Given the description of an element on the screen output the (x, y) to click on. 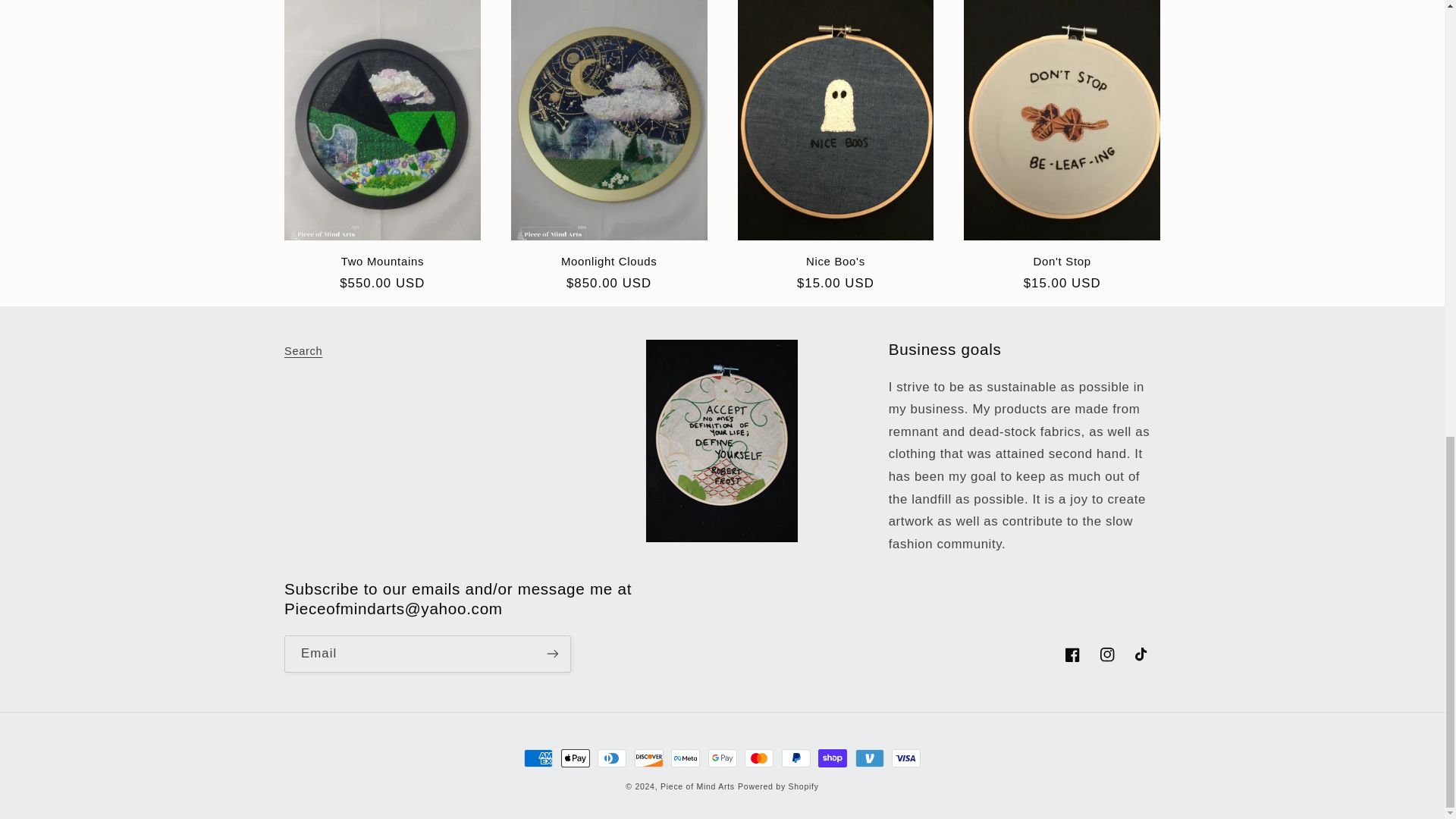
Two Mountains (381, 260)
Moonlight Clouds (609, 260)
